Given the description of an element on the screen output the (x, y) to click on. 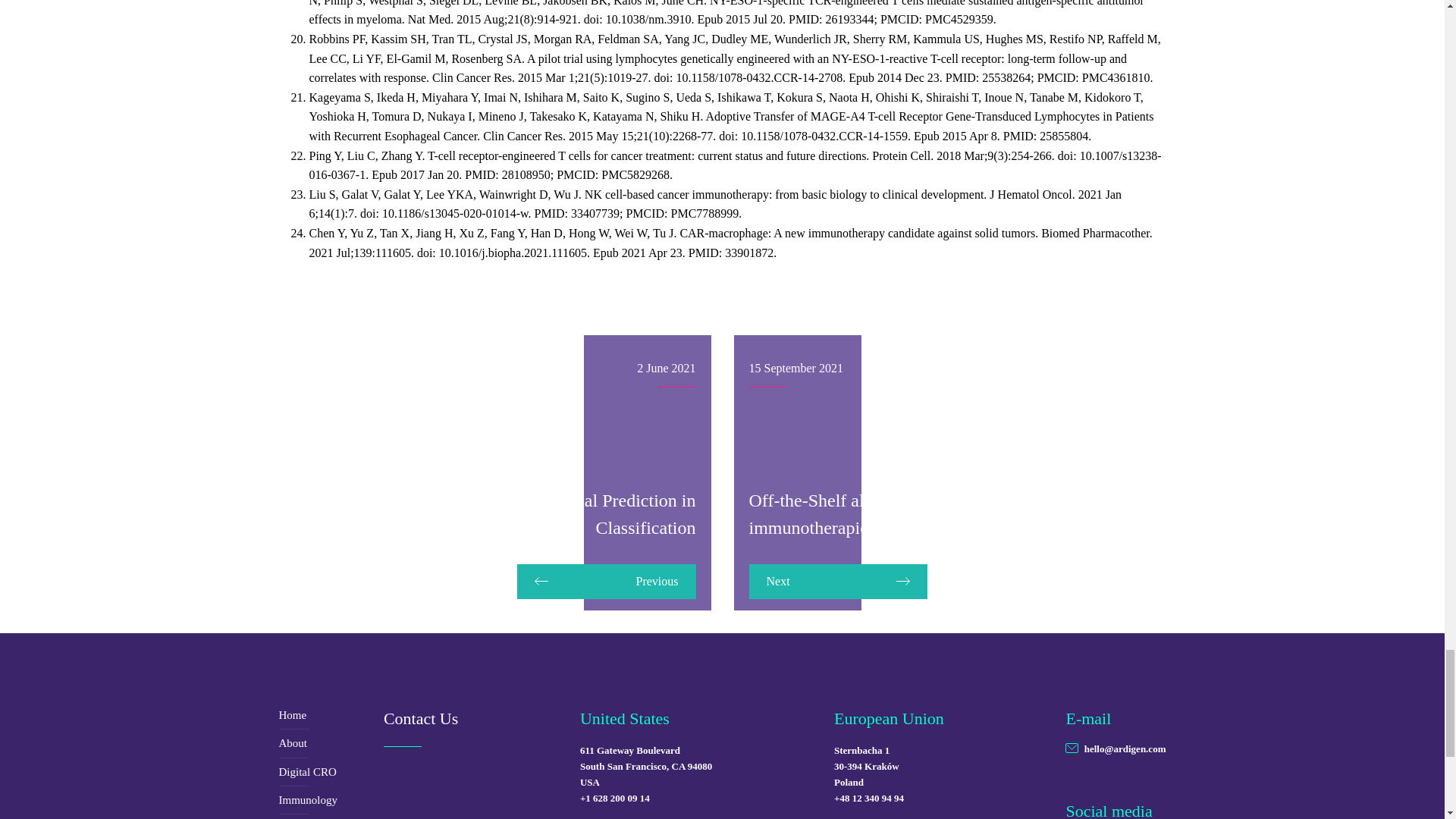
Microbiome (331, 816)
Immunology (331, 800)
Previous (605, 581)
Digital CRO (331, 772)
Next (838, 581)
About (331, 743)
Home (331, 715)
